Given the description of an element on the screen output the (x, y) to click on. 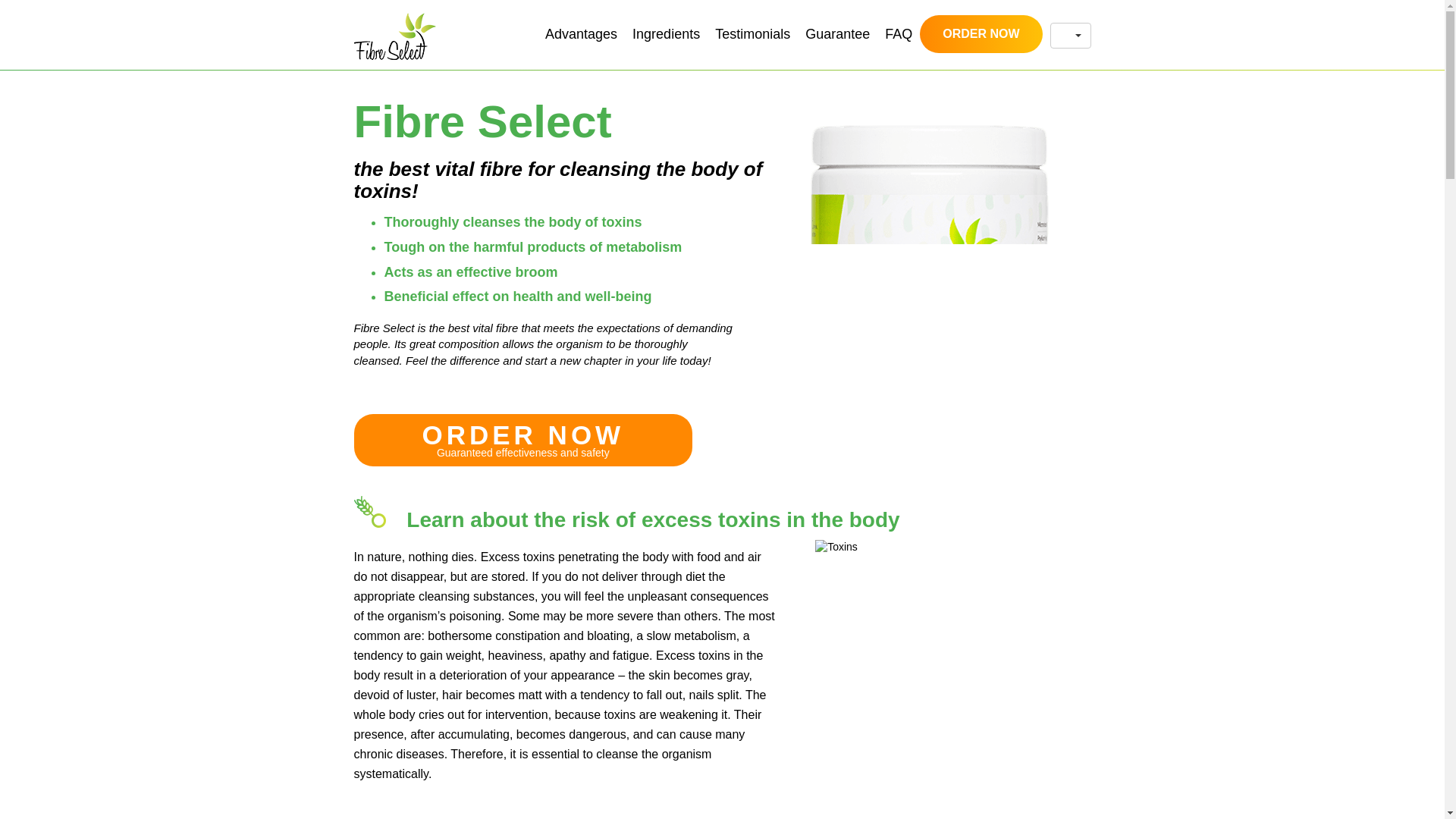
Ingredients (665, 34)
ORDER NOW (980, 34)
Advantages (580, 34)
Guarantee (837, 34)
Testimonials (752, 34)
FAQ (898, 34)
